Given the description of an element on the screen output the (x, y) to click on. 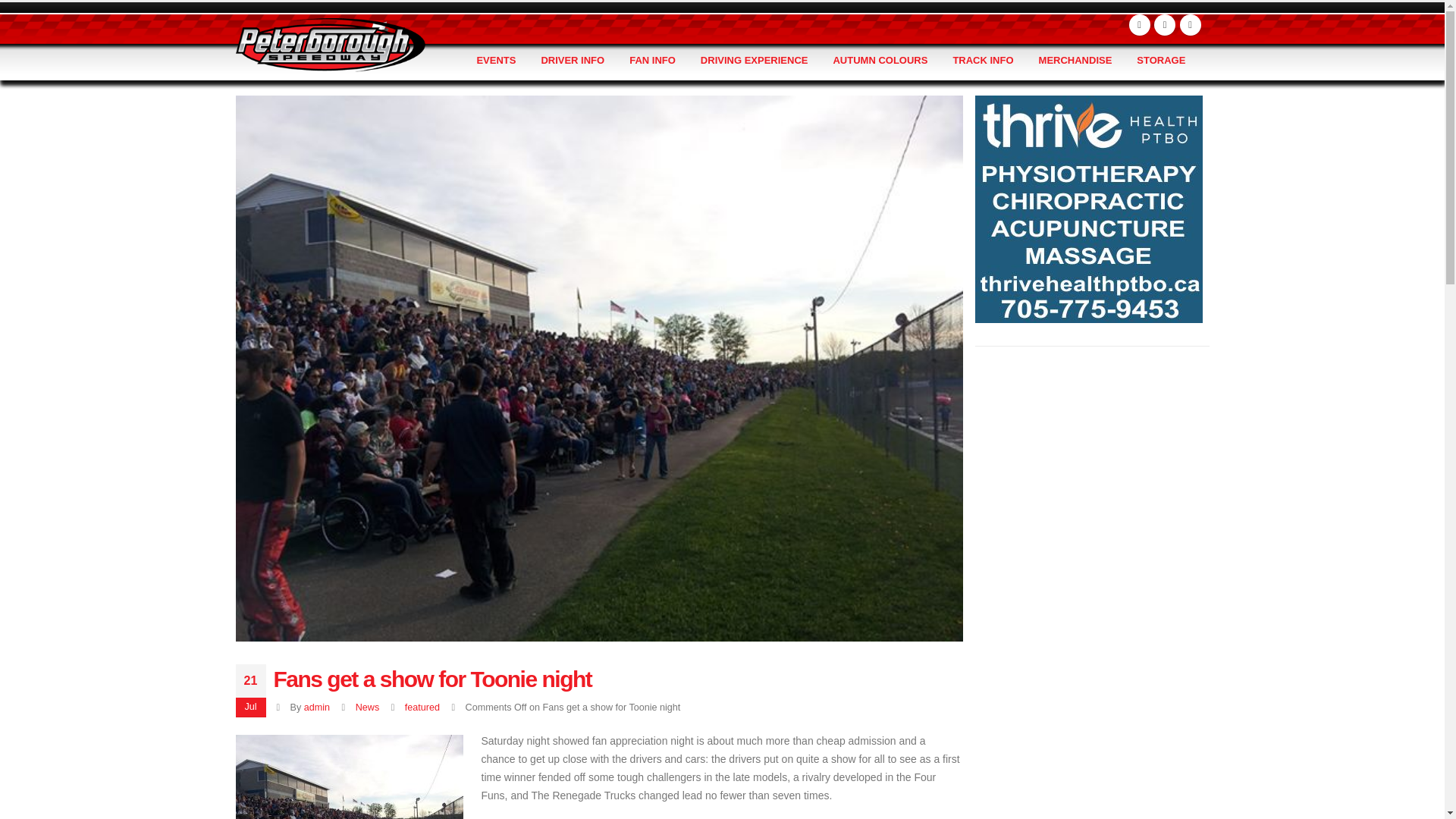
AUTUMN COLOURS (880, 60)
Posts by admin (317, 706)
Youtube (1164, 25)
DRIVER INFO (571, 60)
Facebook (1139, 25)
DRIVING EXPERIENCE (754, 60)
FAN INFO (652, 60)
Instagram (1190, 25)
EVENTS (495, 60)
Peterborough Speedway -  (329, 44)
